Given the description of an element on the screen output the (x, y) to click on. 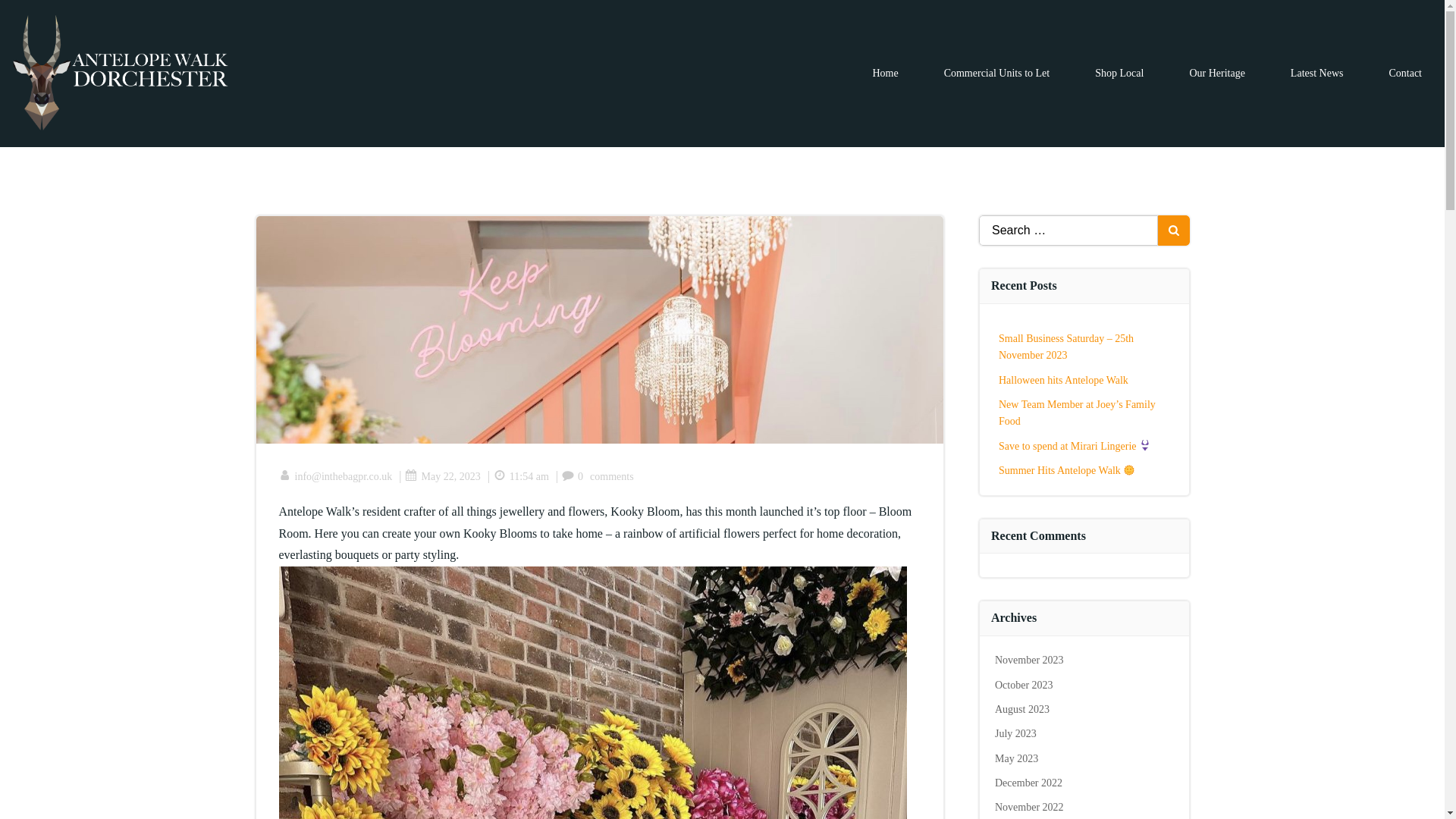
11:54 am (520, 476)
Contact (1405, 73)
Our Heritage (1216, 73)
Latest News (1316, 73)
May 2023 (1016, 758)
July 2023 (1015, 733)
Summer Hits Antelope Walk (1066, 470)
Halloween hits Antelope Walk (1063, 379)
Commercial Units to Let (996, 73)
October 2023 (1023, 685)
May 22, 2023 (442, 476)
August 2023 (1021, 708)
Save to spend at Mirari Lingerie (1074, 446)
Home (885, 73)
Shop Local (1118, 73)
